Given the description of an element on the screen output the (x, y) to click on. 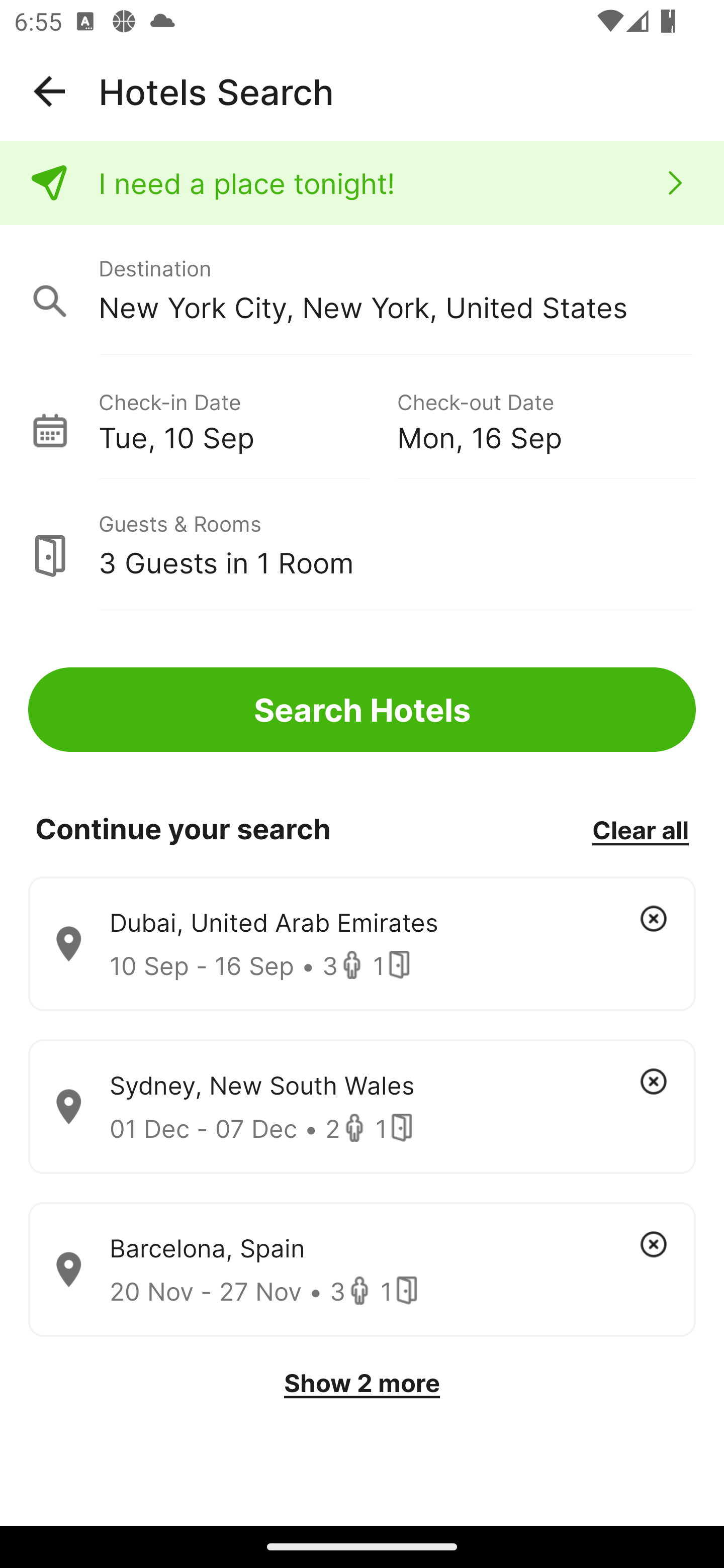
I need a place tonight! (362, 183)
Destination New York City, New York, United States (362, 290)
Check-in Date Tue, 10 Sep (247, 418)
Check-out Date Mon, 16 Sep (546, 418)
Guests & Rooms 3 Guests in 1 Room (362, 545)
Search Hotels (361, 709)
Clear all (640, 829)
Sydney, New South Wales 01 Dec - 07 Dec • 2  1  (361, 1106)
Barcelona, Spain 20 Nov - 27 Nov • 3  1  (361, 1269)
Show 2 more (362, 1382)
